Given the description of an element on the screen output the (x, y) to click on. 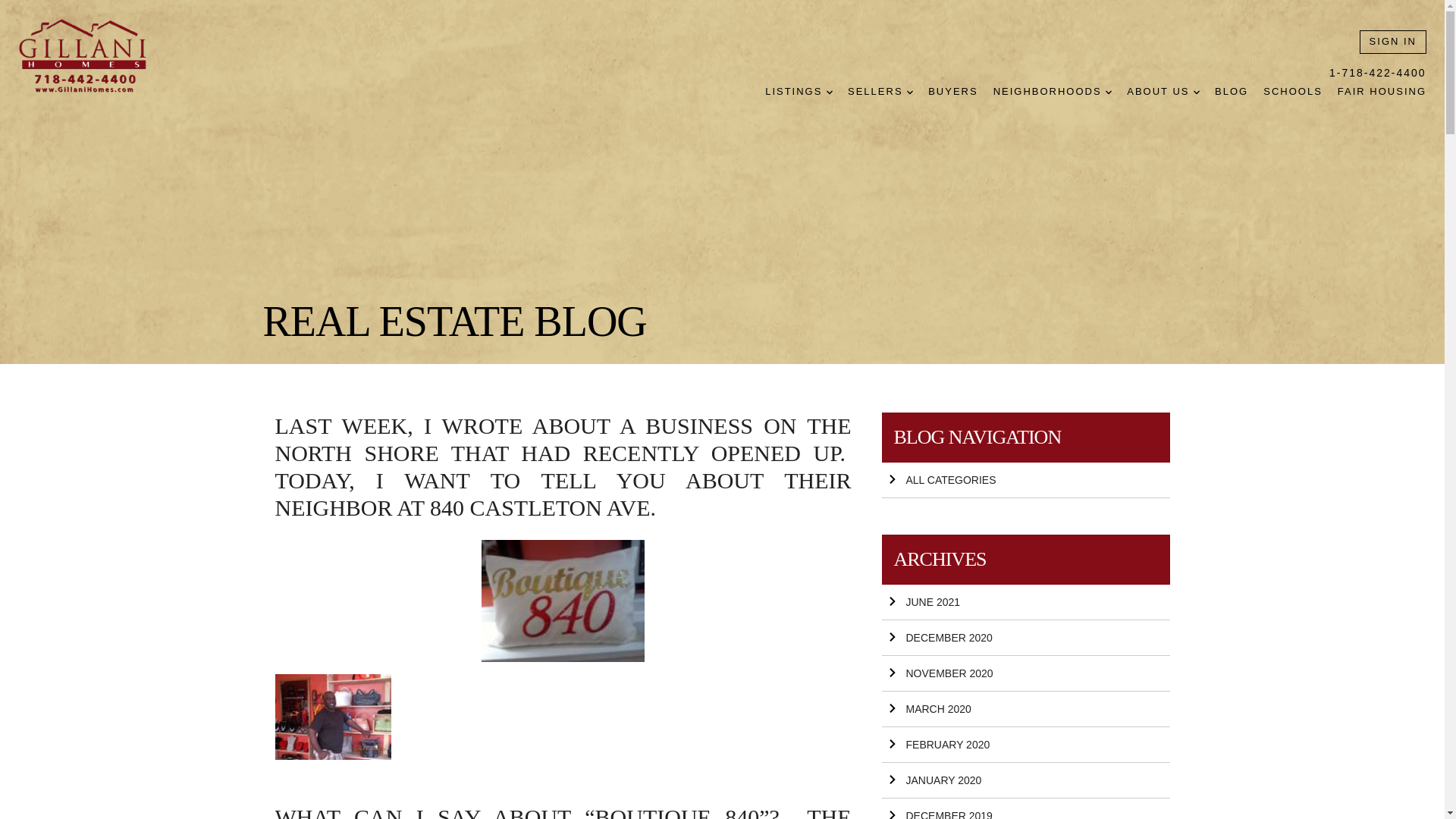
DROPDOWN ARROW (1196, 92)
BLOG (1230, 91)
1-718-422-4400 (1377, 72)
DROPDOWN ARROW (1108, 92)
LISTINGS DROPDOWN ARROW (798, 91)
SIGN IN (1392, 42)
SCHOOLS (1292, 91)
NEIGHBORHOODS DROPDOWN ARROW (1052, 91)
DROPDOWN ARROW (909, 92)
SELLERS DROPDOWN ARROW (879, 91)
